Given the description of an element on the screen output the (x, y) to click on. 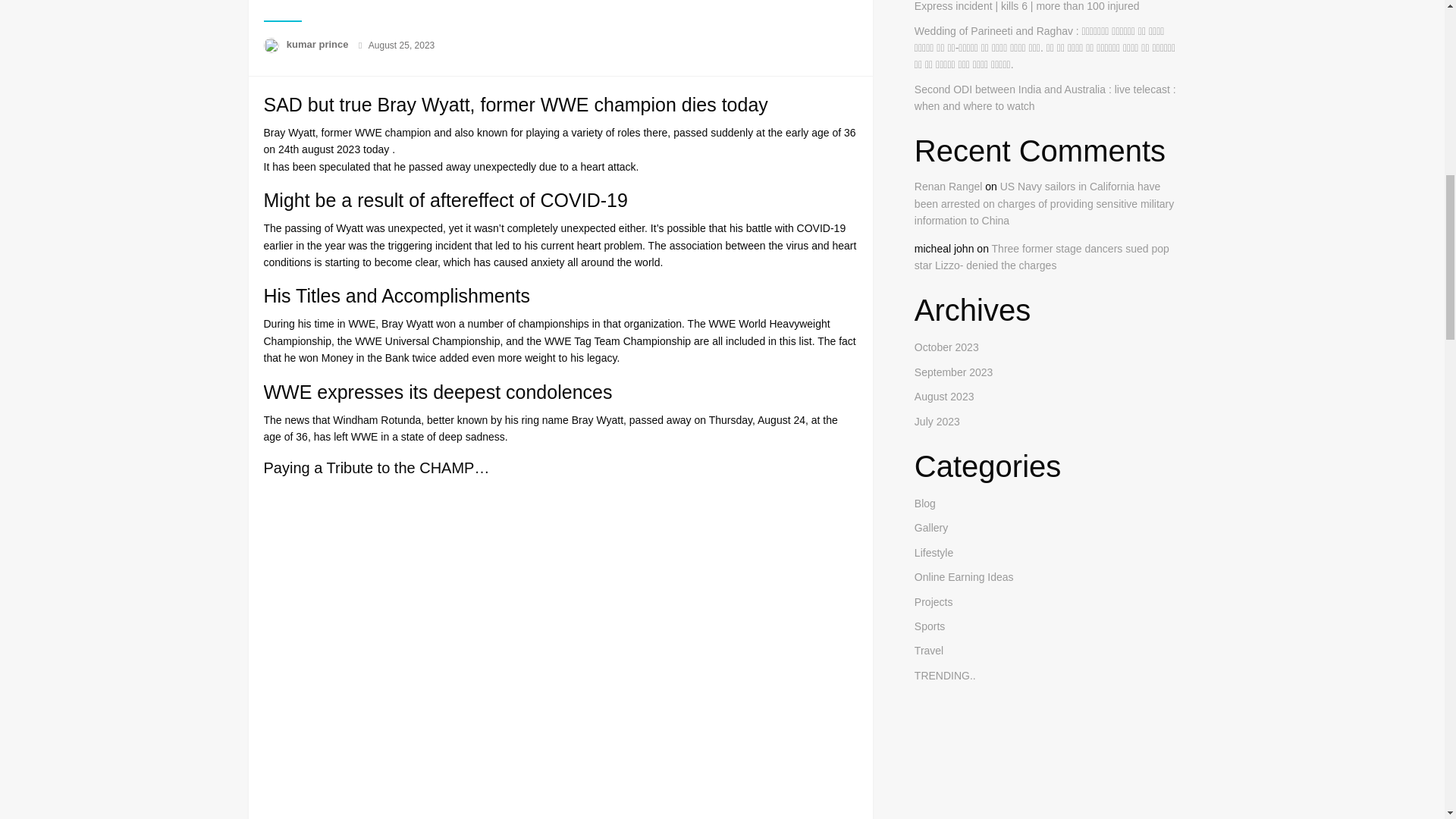
kumar prince (318, 43)
kumar prince (318, 43)
August 25, 2023 (400, 45)
